Given the description of an element on the screen output the (x, y) to click on. 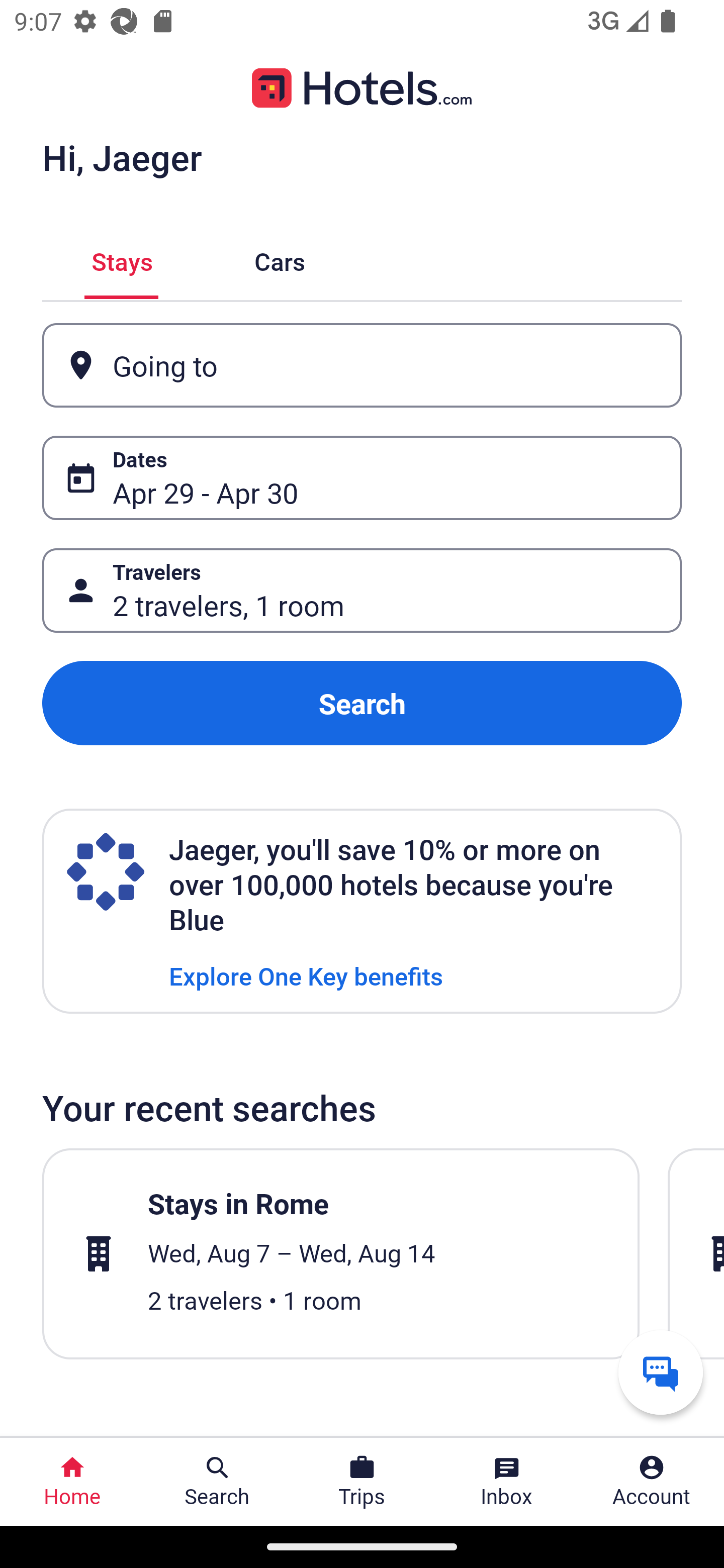
Hi, Jaeger (121, 156)
Cars (279, 259)
Going to Button (361, 365)
Dates Button Apr 29 - Apr 30 (361, 477)
Travelers Button 2 travelers, 1 room (361, 590)
Search (361, 702)
Get help from a virtual agent (660, 1371)
Search Search Button (216, 1481)
Trips Trips Button (361, 1481)
Inbox Inbox Button (506, 1481)
Account Profile. Button (651, 1481)
